Given the description of an element on the screen output the (x, y) to click on. 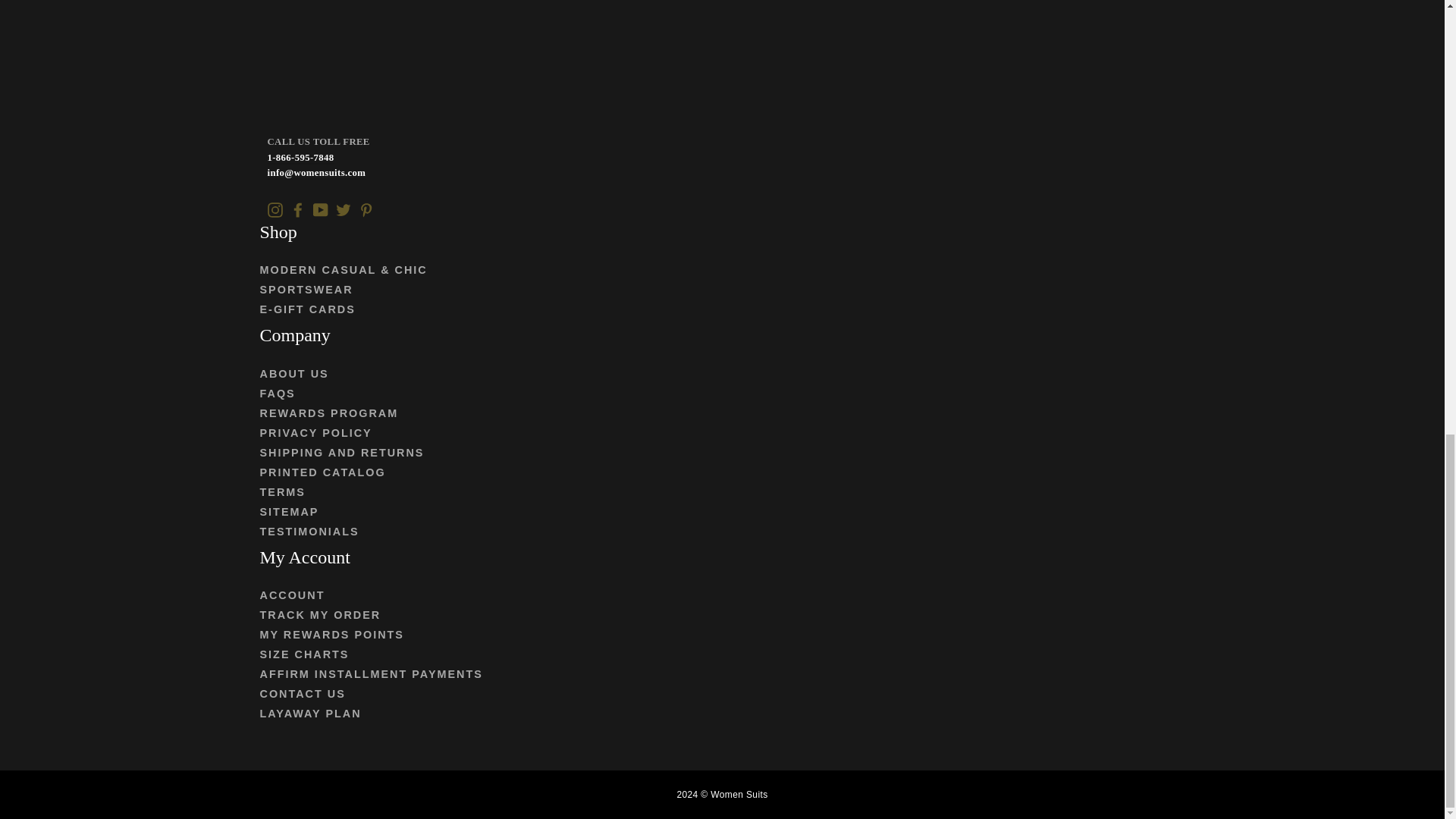
Women Suits on Pinterest (365, 208)
Women Suits on Twitter (342, 208)
Women Suits on Instagram (274, 208)
Women Suits on YouTube (320, 208)
tel:1-866-595-7848 (299, 158)
Women Suits on Facebook (296, 208)
